Given the description of an element on the screen output the (x, y) to click on. 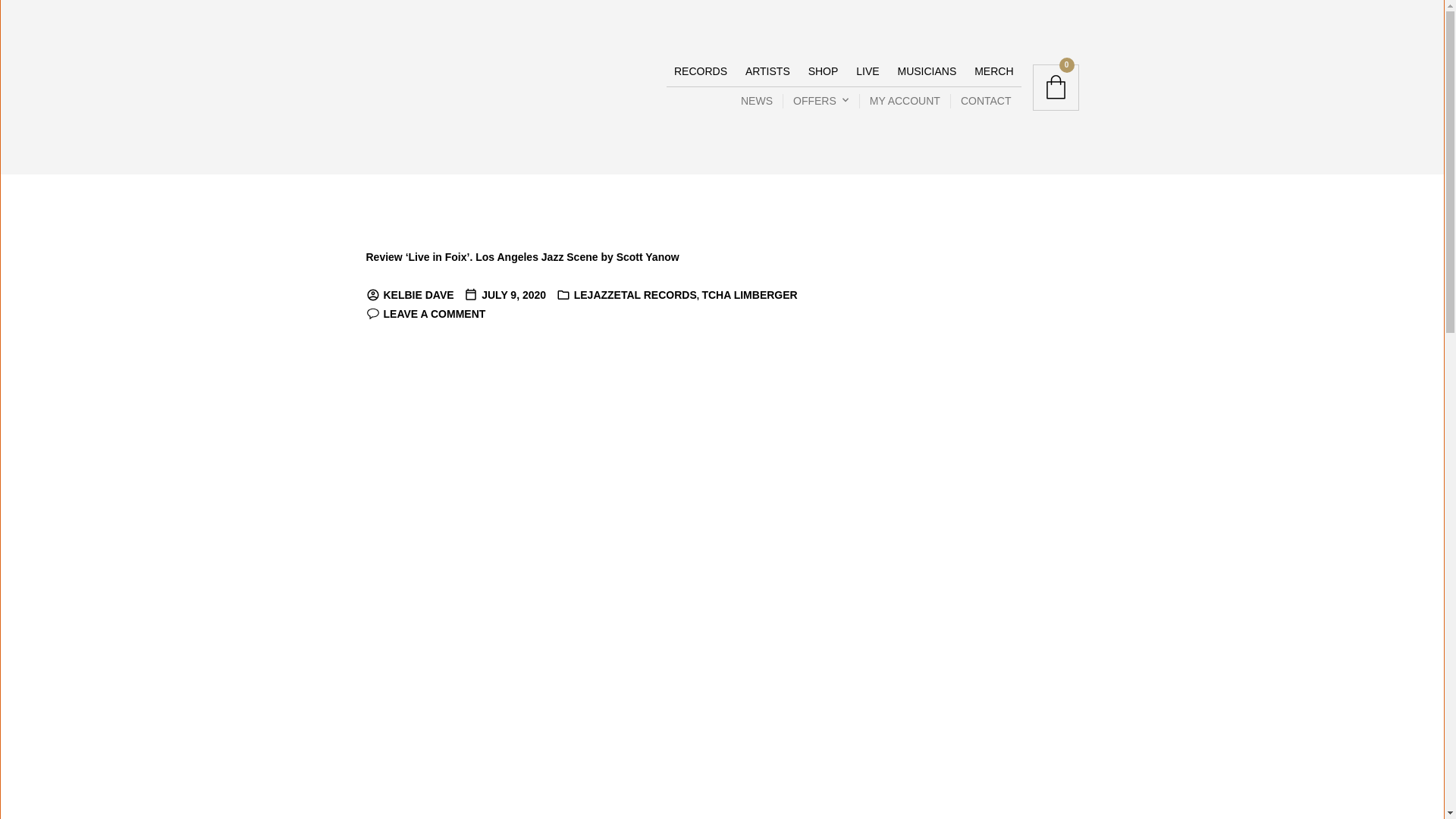
LEAVE A COMMENT (424, 313)
JULY 9, 2020 (505, 295)
View all posts by Kelbie Dave (408, 295)
LIVE (867, 71)
KELBIE DAVE (408, 295)
CONTACT (986, 101)
MUSICIANS (926, 71)
0 (1055, 86)
TCHA LIMBERGER (748, 295)
OFFERS (817, 101)
